Given the description of an element on the screen output the (x, y) to click on. 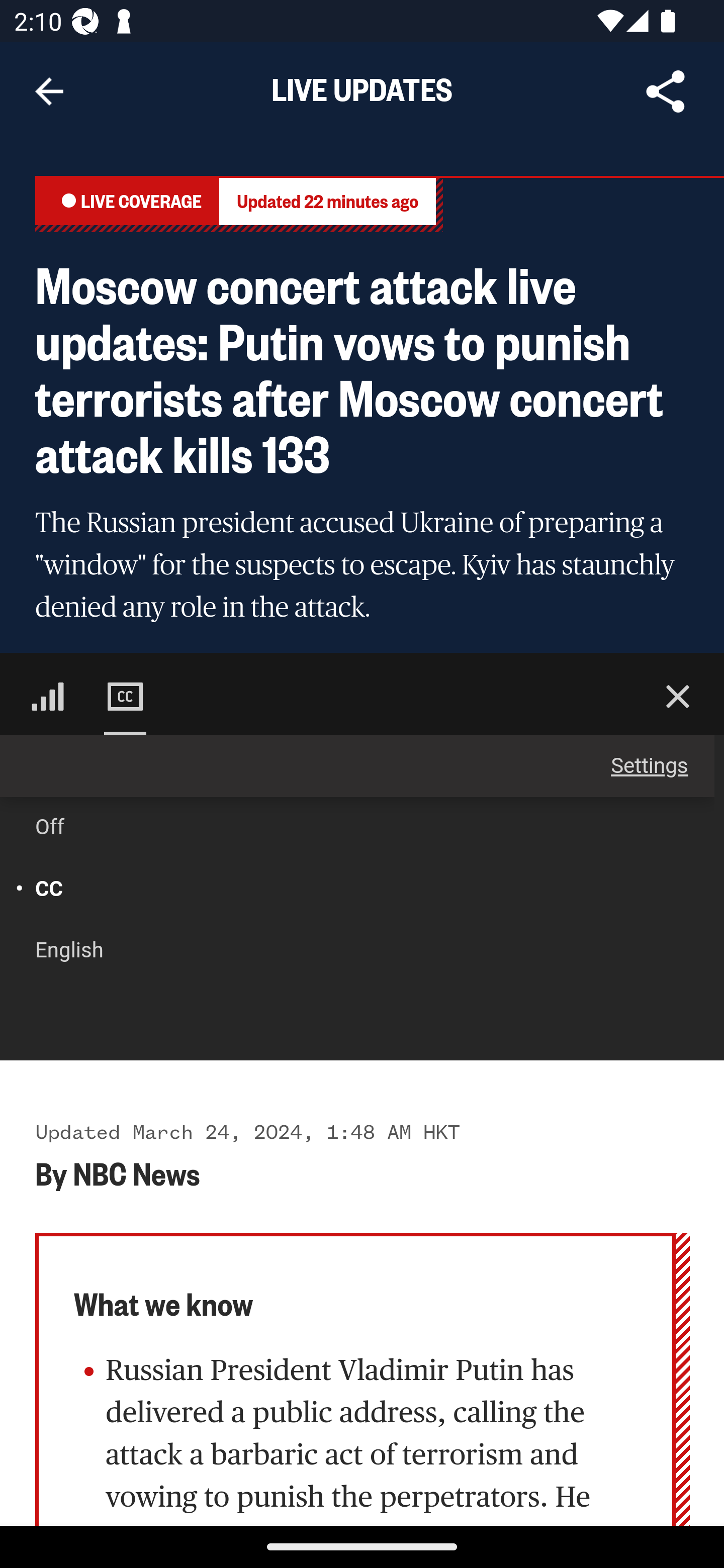
Navigate up (49, 91)
Share Article, button (665, 91)
Quality (47, 696)
Closed Captions (124, 696)
Close (677, 696)
Settings (358, 766)
Off (343, 826)
CC (343, 889)
English (343, 950)
